Given the description of an element on the screen output the (x, y) to click on. 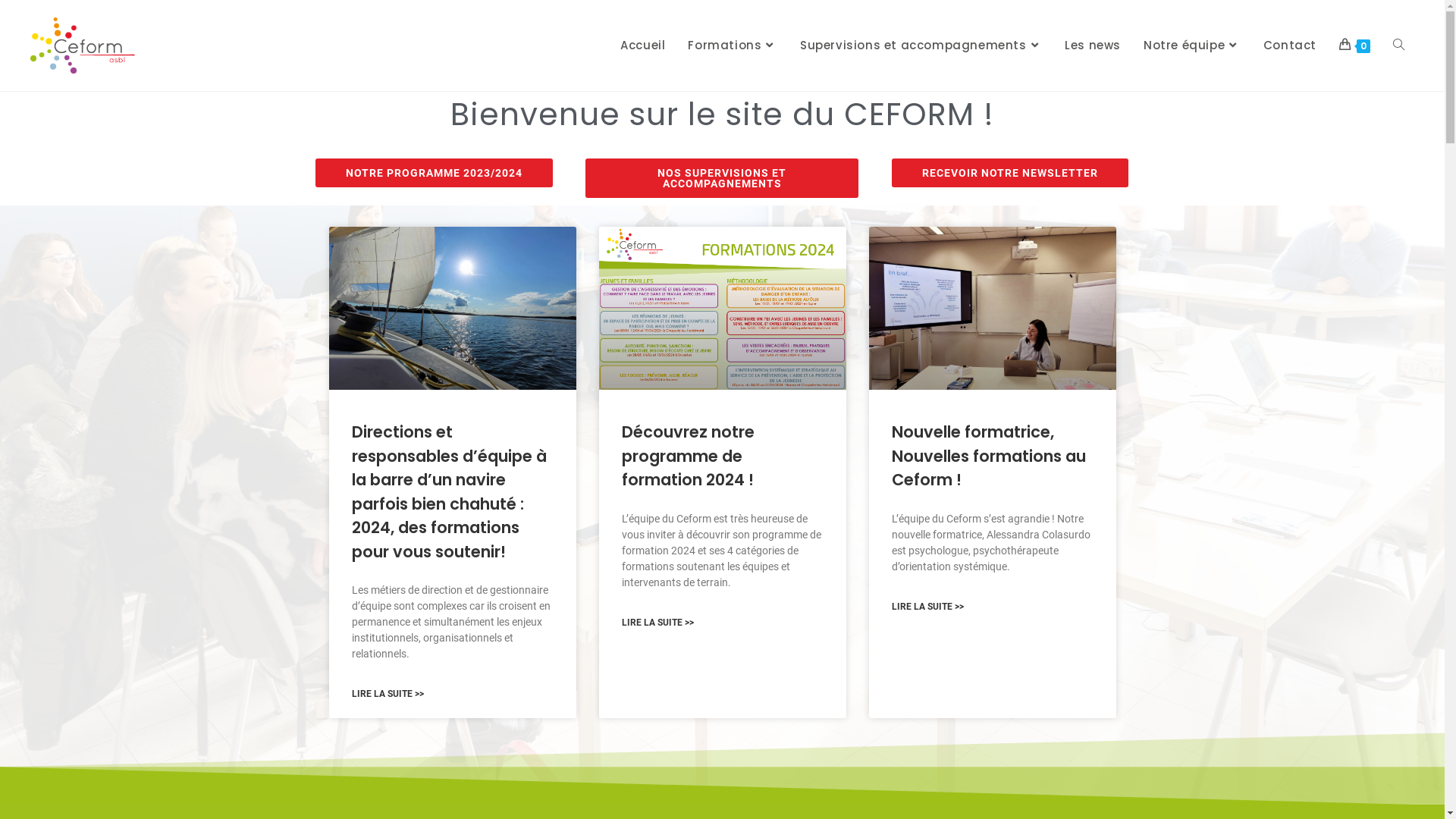
Contact Element type: text (1289, 45)
NOTRE PROGRAMME 2023/2024 Element type: text (433, 172)
0 Element type: text (1354, 45)
LIRE LA SUITE >> Element type: text (927, 607)
Formations Element type: text (732, 45)
RECEVOIR NOTRE NEWSLETTER Element type: text (1009, 172)
LIRE LA SUITE >> Element type: text (387, 694)
Nouvelle formatrice, Nouvelles formations au Ceform ! Element type: text (988, 455)
Supervisions et accompagnements Element type: text (920, 45)
Les news Element type: text (1092, 45)
Accueil Element type: text (642, 45)
NOS SUPERVISIONS ET ACCOMPAGNEMENTS Element type: text (721, 177)
LIRE LA SUITE >> Element type: text (657, 623)
